Given the description of an element on the screen output the (x, y) to click on. 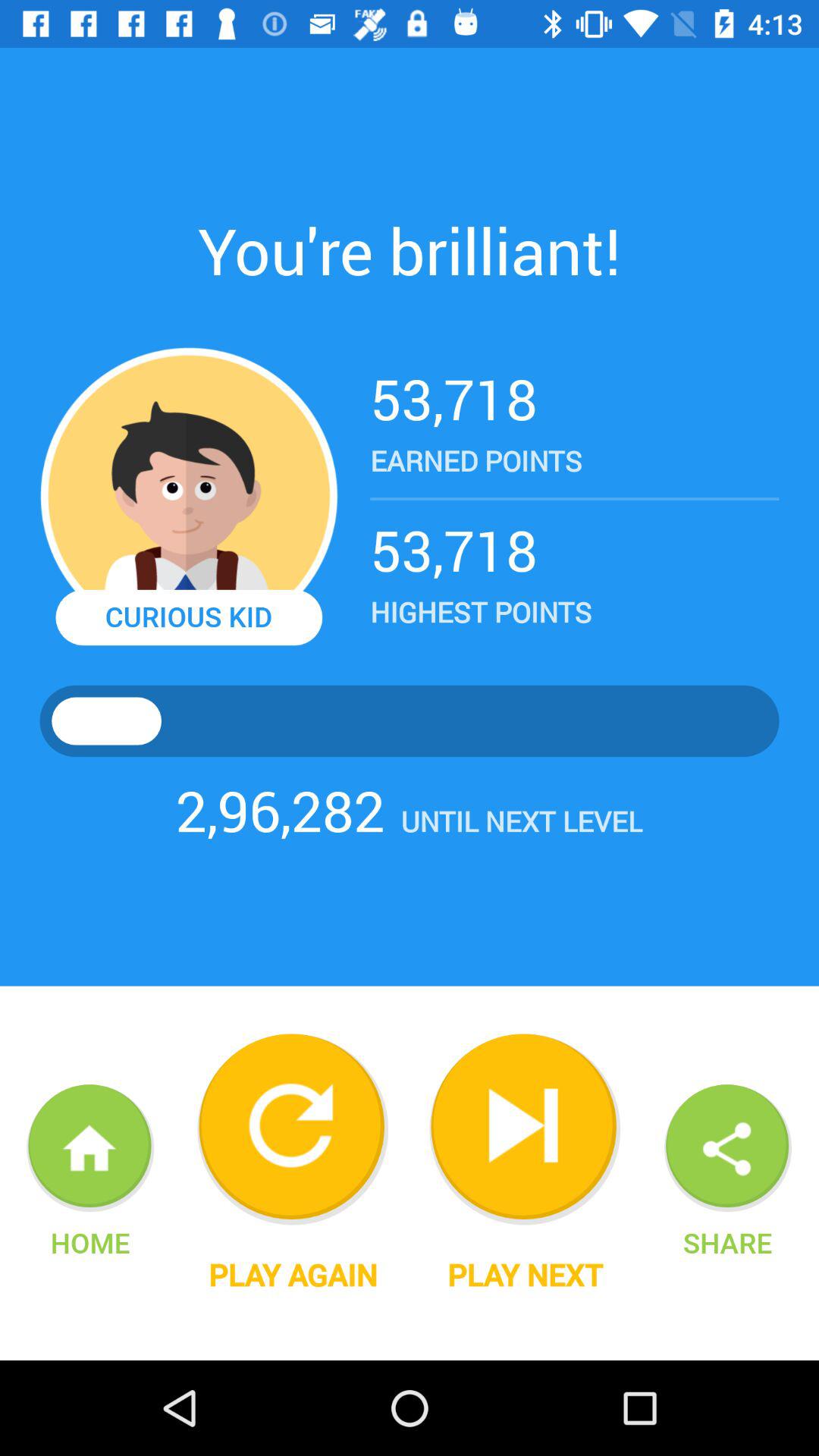
press the icon next to home icon (292, 1274)
